Given the description of an element on the screen output the (x, y) to click on. 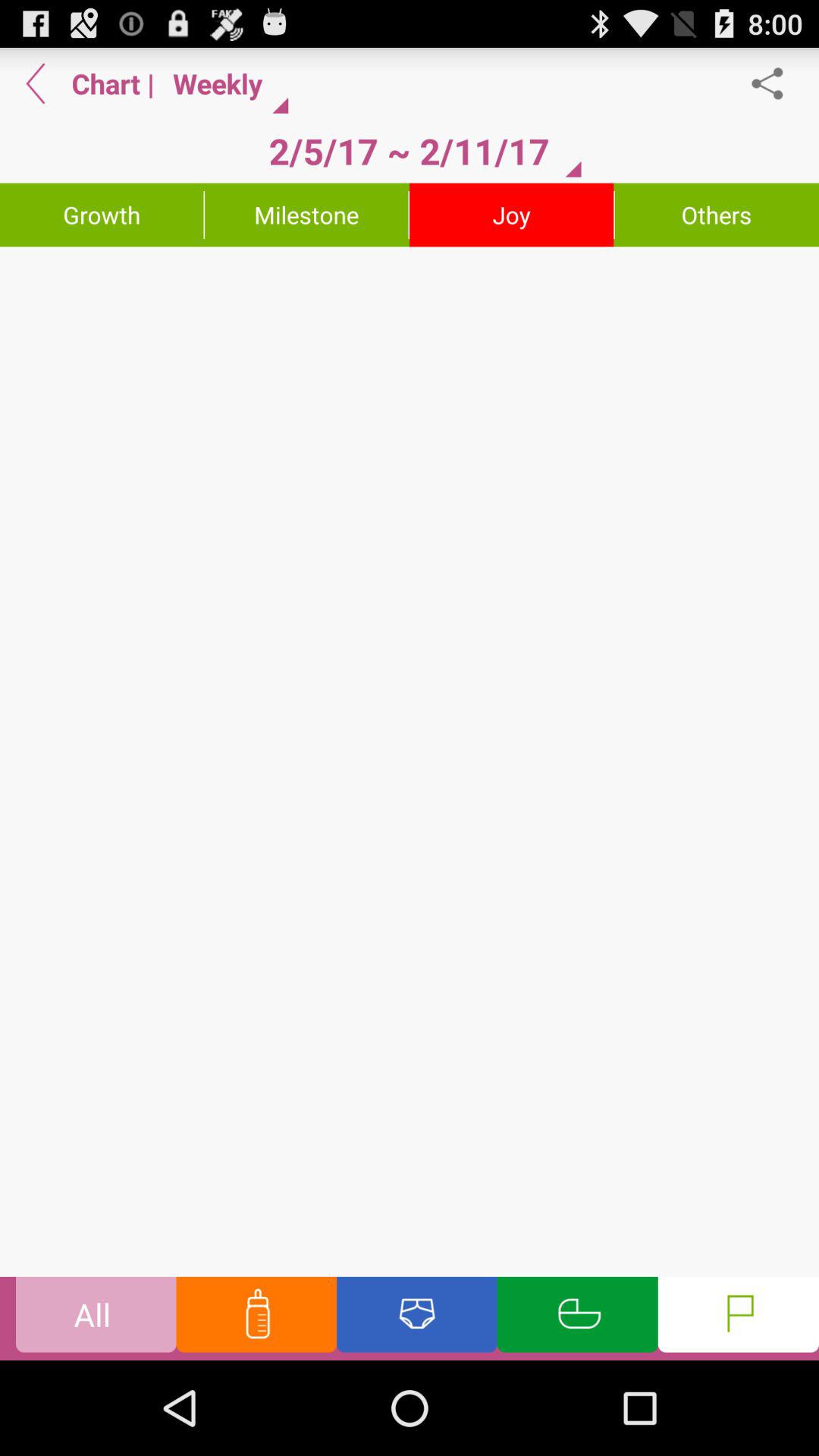
go back (35, 83)
